Given the description of an element on the screen output the (x, y) to click on. 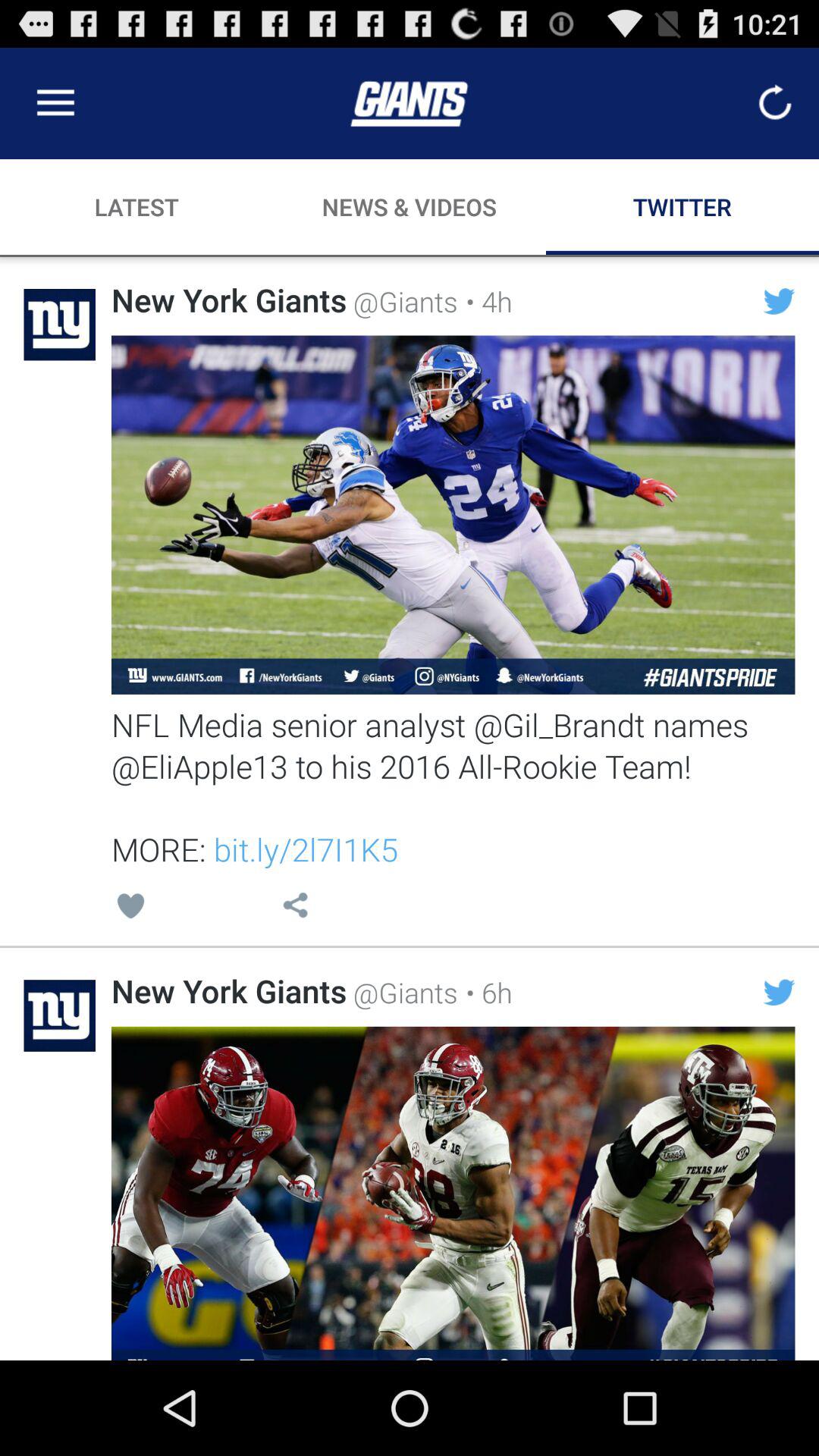
share the article (453, 1193)
